Given the description of an element on the screen output the (x, y) to click on. 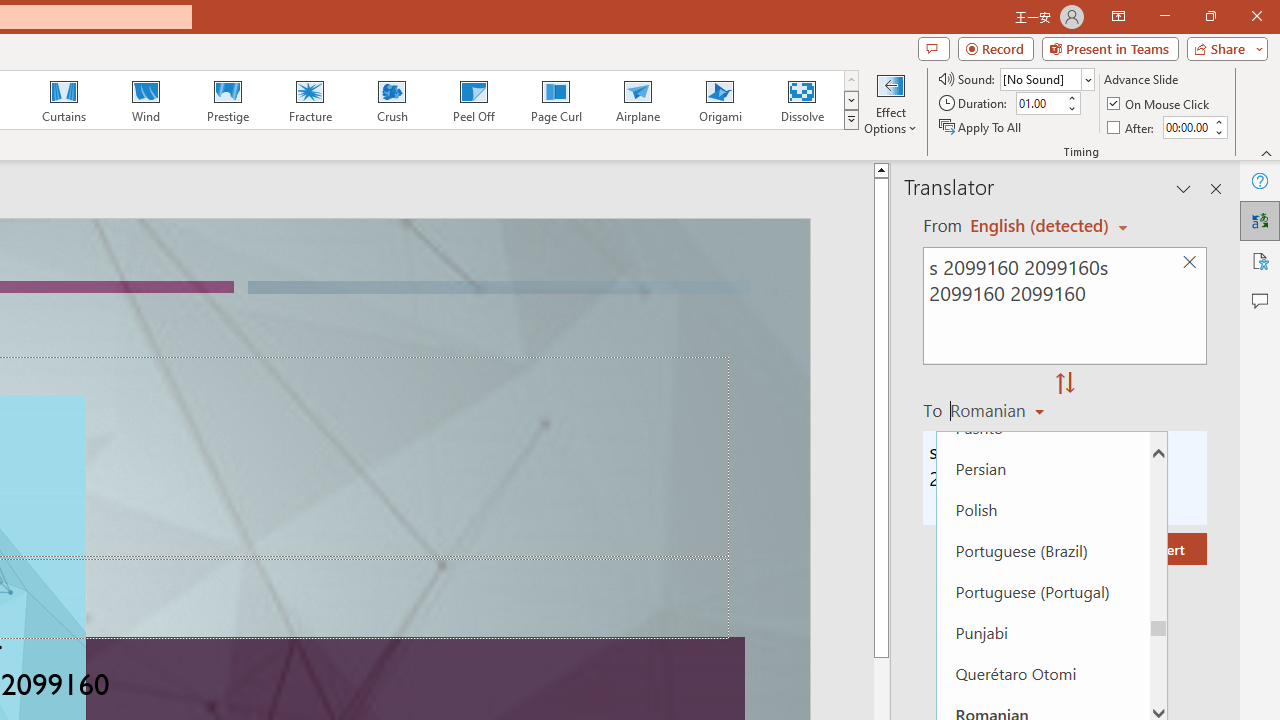
Persian (1042, 467)
Punjabi (1042, 632)
Clear text (1189, 262)
Wind (145, 100)
Portuguese (Brazil) (1042, 549)
After (1131, 126)
Fracture (309, 100)
